Given the description of an element on the screen output the (x, y) to click on. 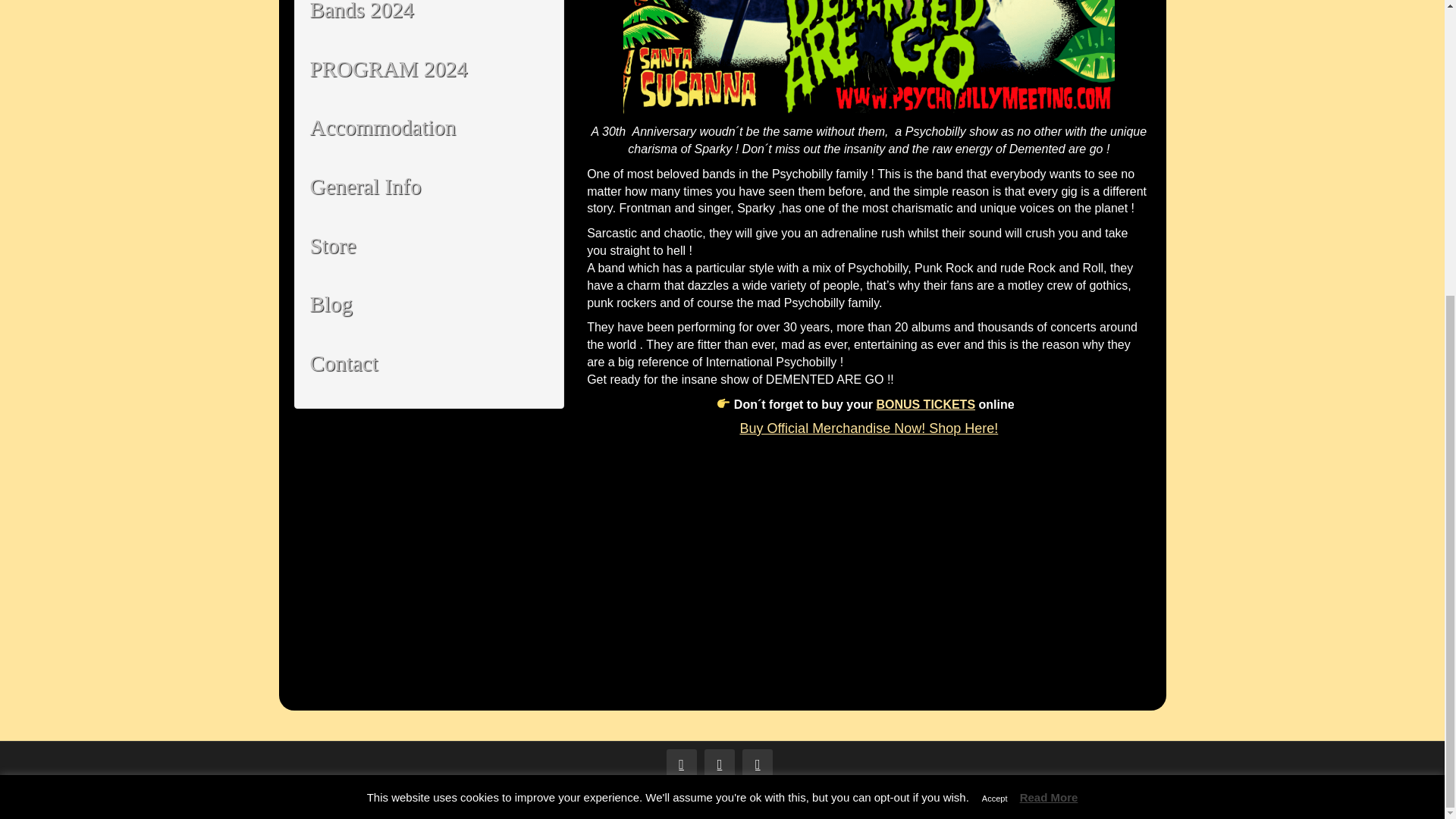
Buy Official Merchandise Now! Shop Here! (868, 427)
Store (428, 246)
PROGRAM 2024 (428, 69)
BONUS TICKETS (925, 404)
Bands 2024 (428, 20)
General Info (428, 187)
Accommodation (428, 128)
